Given the description of an element on the screen output the (x, y) to click on. 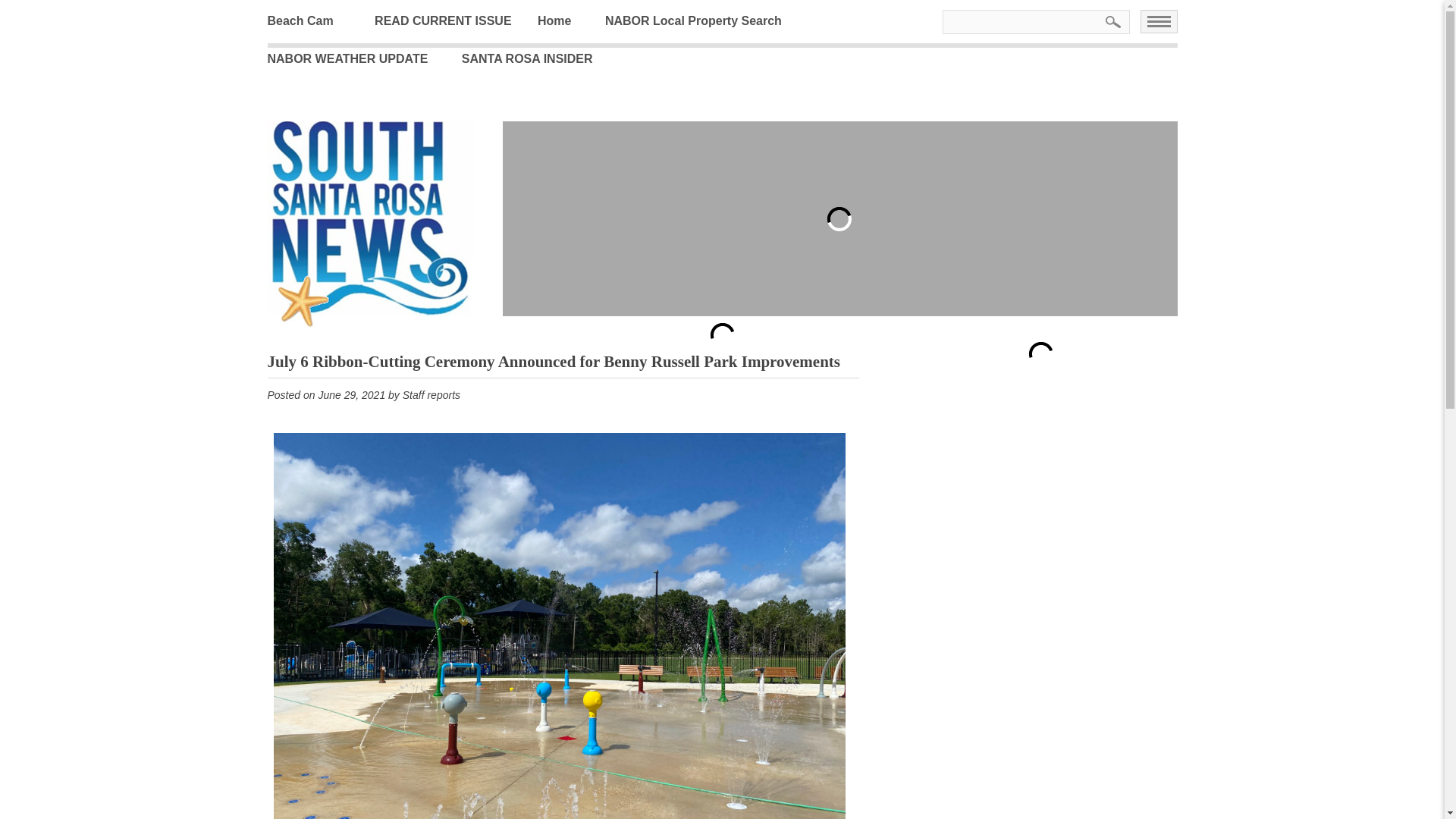
NABOR Local Property Search (705, 21)
NABOR WEATHER UPDATE (357, 58)
Home (565, 21)
SANTA ROSA INSIDER (538, 58)
Beach Cam (310, 21)
READ CURRENT ISSUE (454, 21)
